Given the description of an element on the screen output the (x, y) to click on. 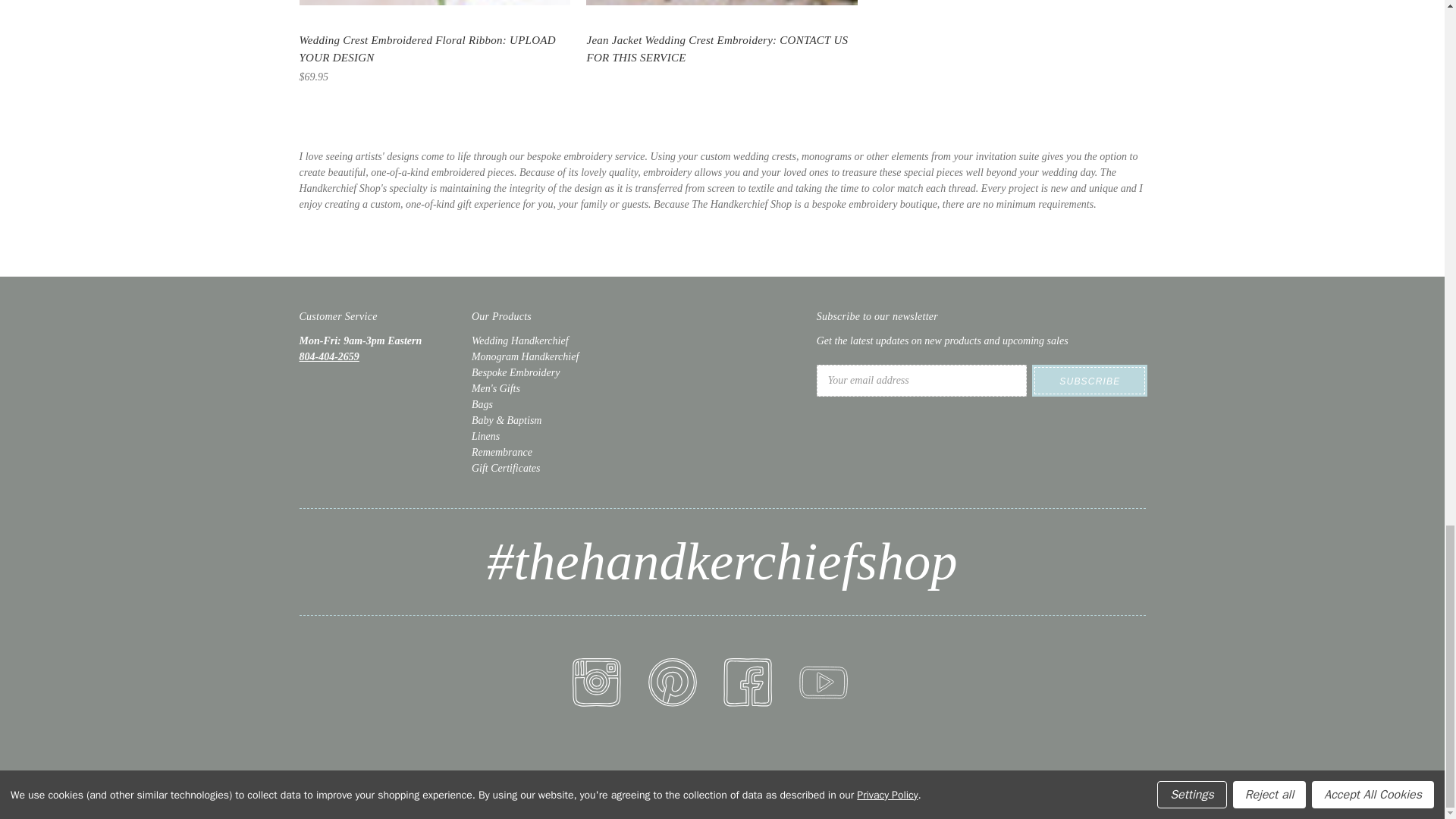
Subscribe (1088, 379)
